Given the description of an element on the screen output the (x, y) to click on. 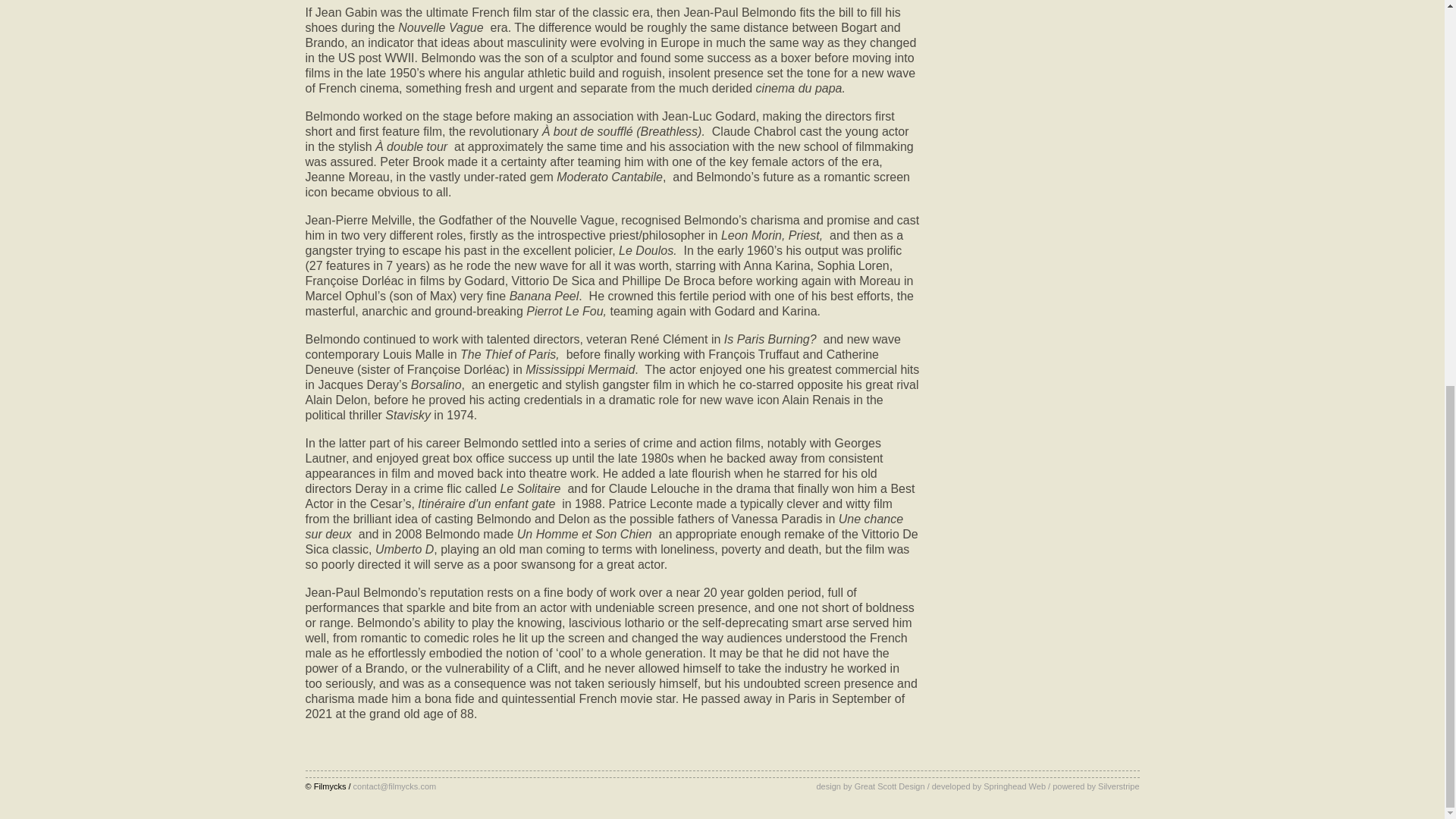
Great Scott Design (889, 786)
Silverstripe (1117, 786)
Springhead Web (1014, 786)
